Given the description of an element on the screen output the (x, y) to click on. 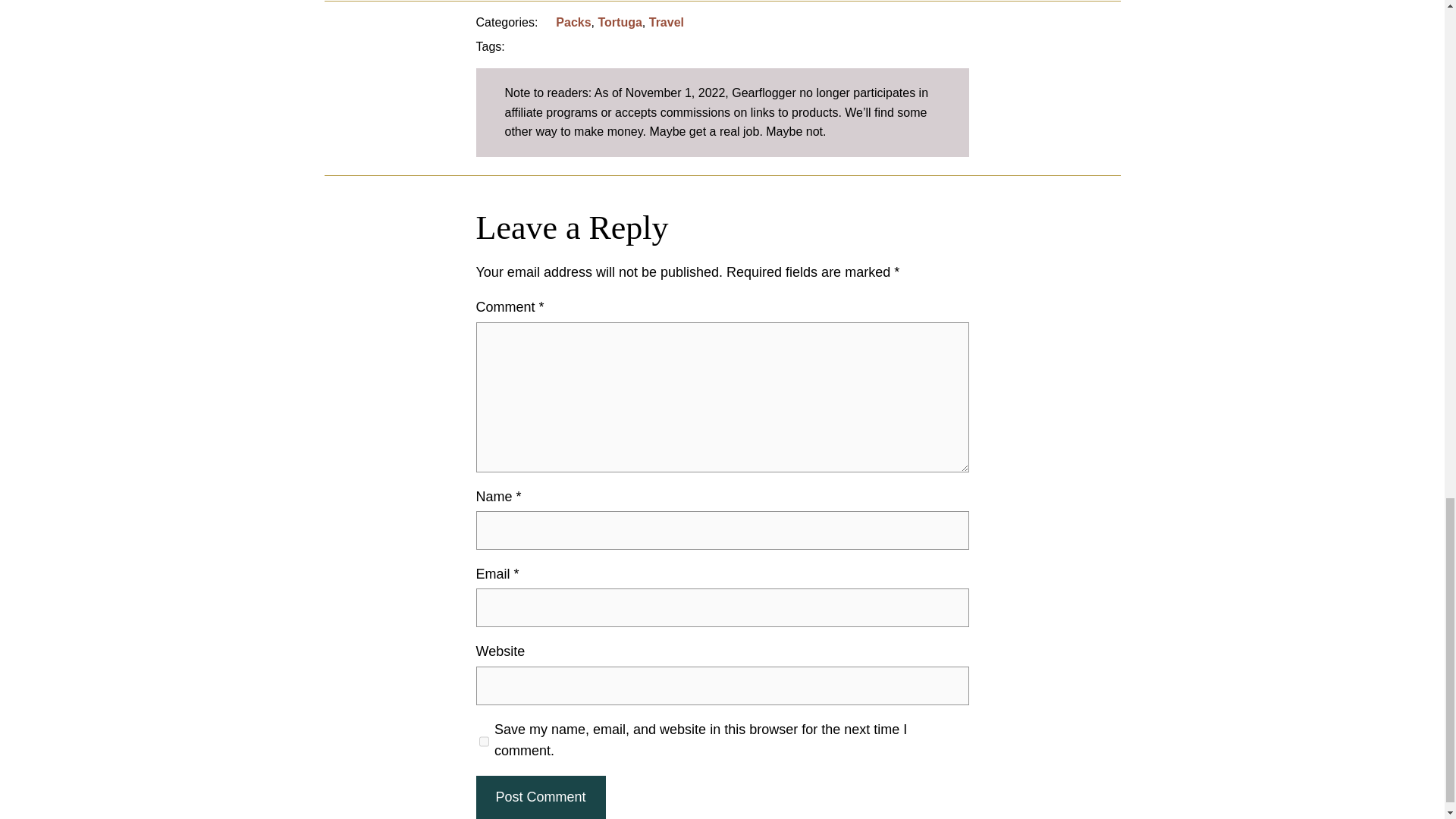
Tortuga (619, 21)
Travel (666, 21)
Packs (573, 21)
